Given the description of an element on the screen output the (x, y) to click on. 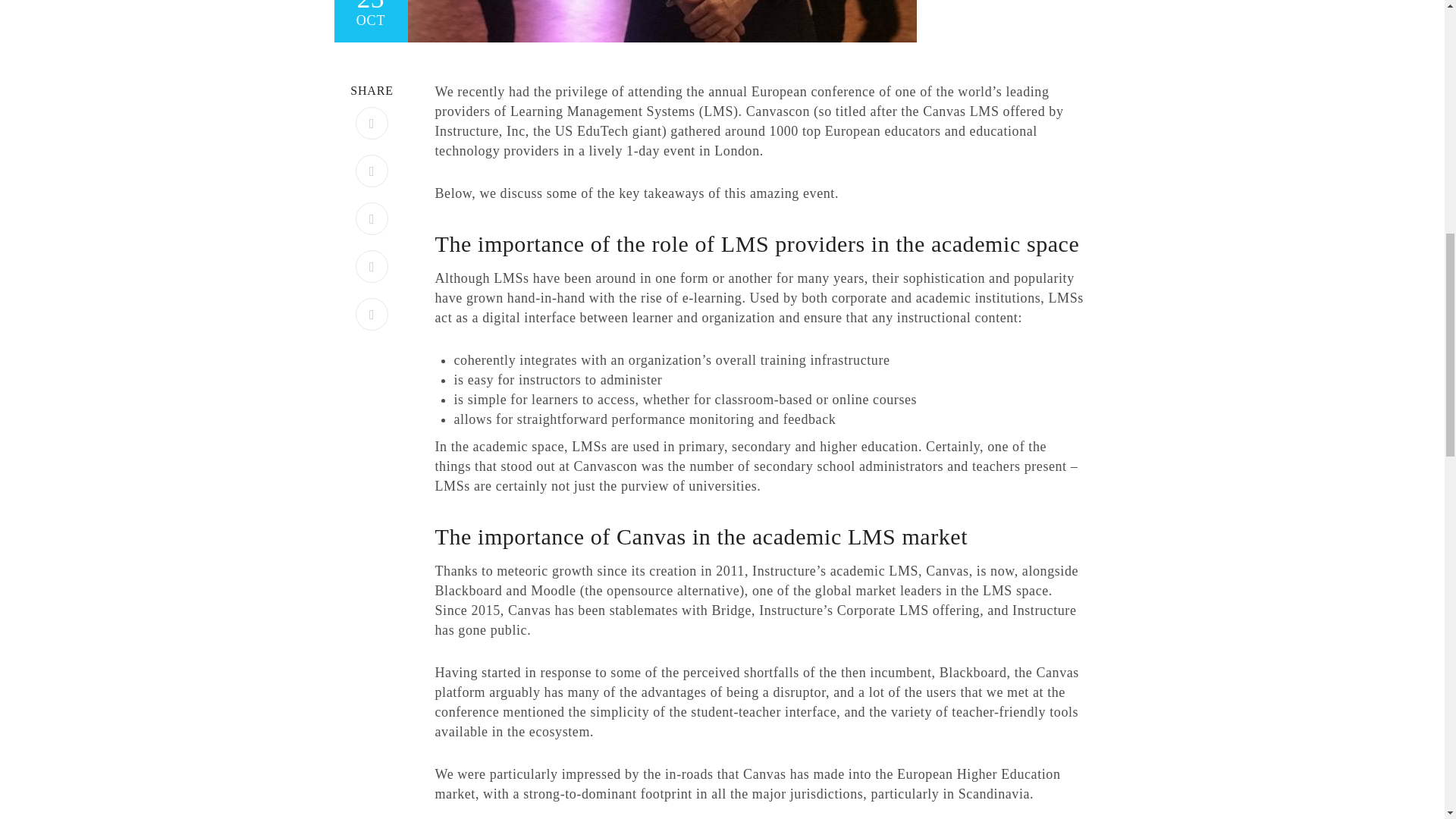
Google (371, 314)
Pinterest (371, 218)
LinkedIn (371, 266)
Twitter (371, 170)
Facebook (371, 123)
